Given the description of an element on the screen output the (x, y) to click on. 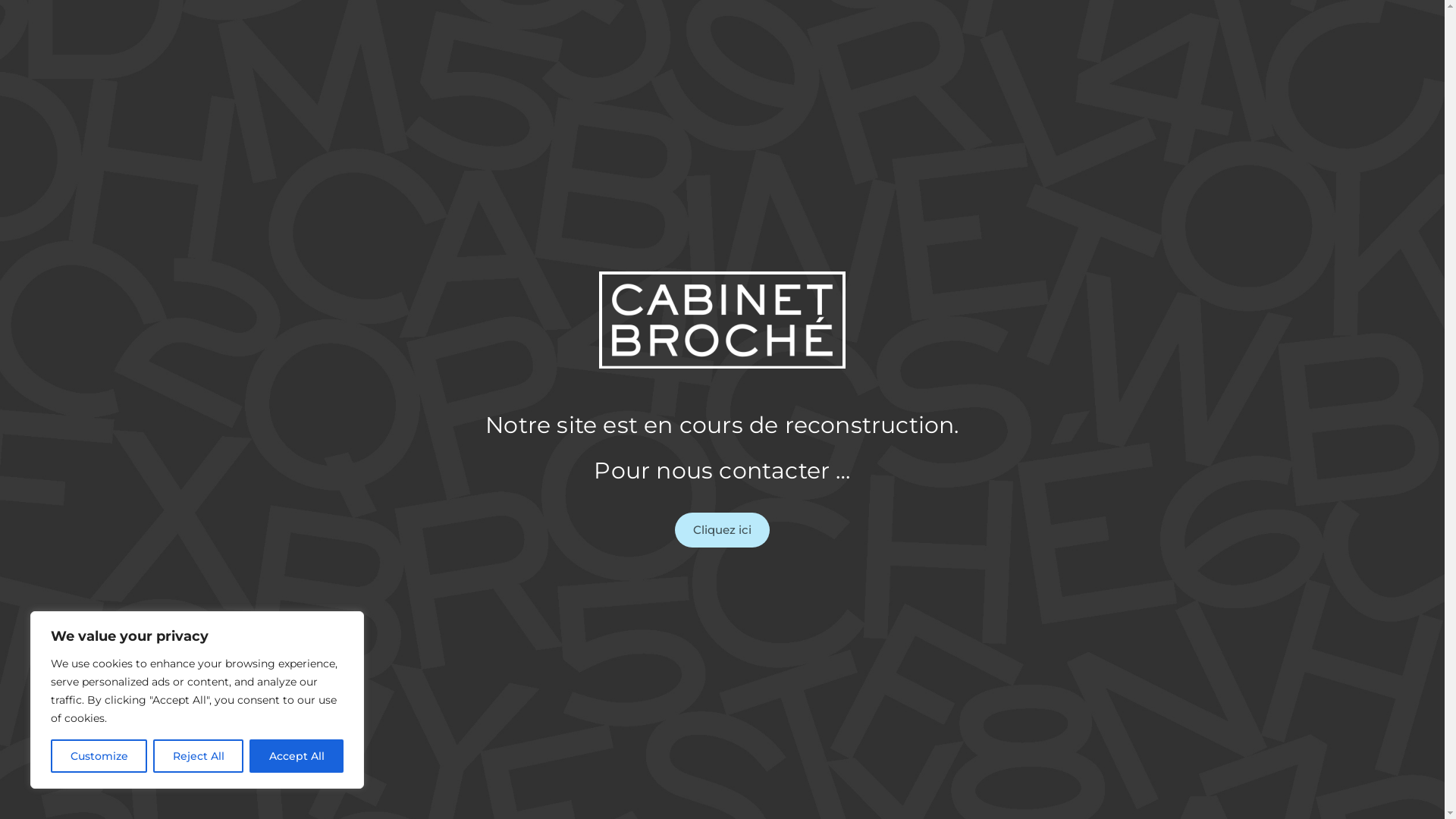
Accept All Element type: text (296, 755)
Customize Element type: text (98, 755)
Logo Blanc Element type: hover (722, 319)
Reject All Element type: text (198, 755)
Cliquez ici Element type: text (721, 529)
